Given the description of an element on the screen output the (x, y) to click on. 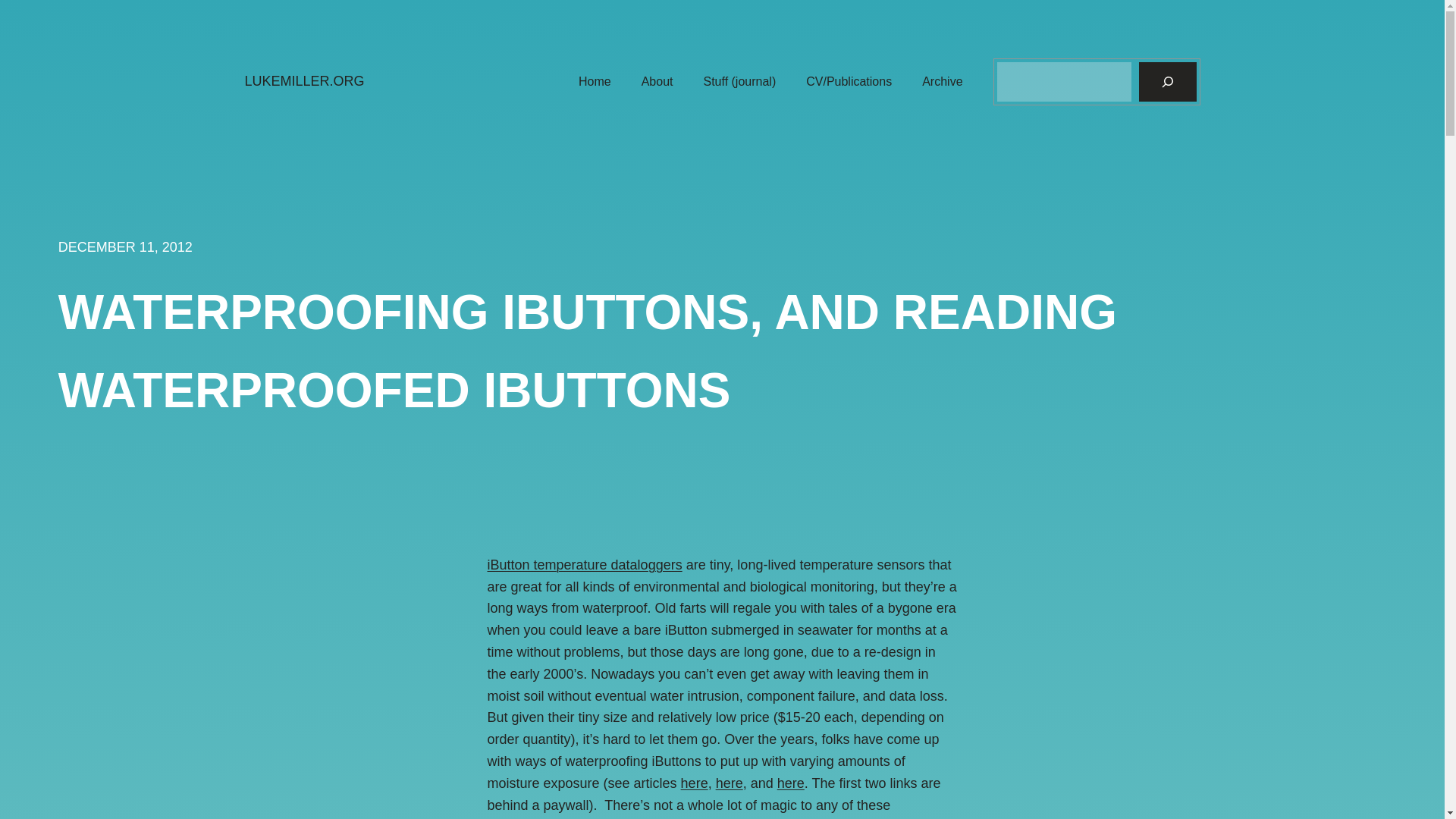
here (791, 783)
Home (594, 81)
About (657, 81)
here (729, 783)
here (694, 783)
LUKEMILLER.ORG (304, 80)
iButton temperature dataloggers (583, 564)
Archive (941, 81)
